Given the description of an element on the screen output the (x, y) to click on. 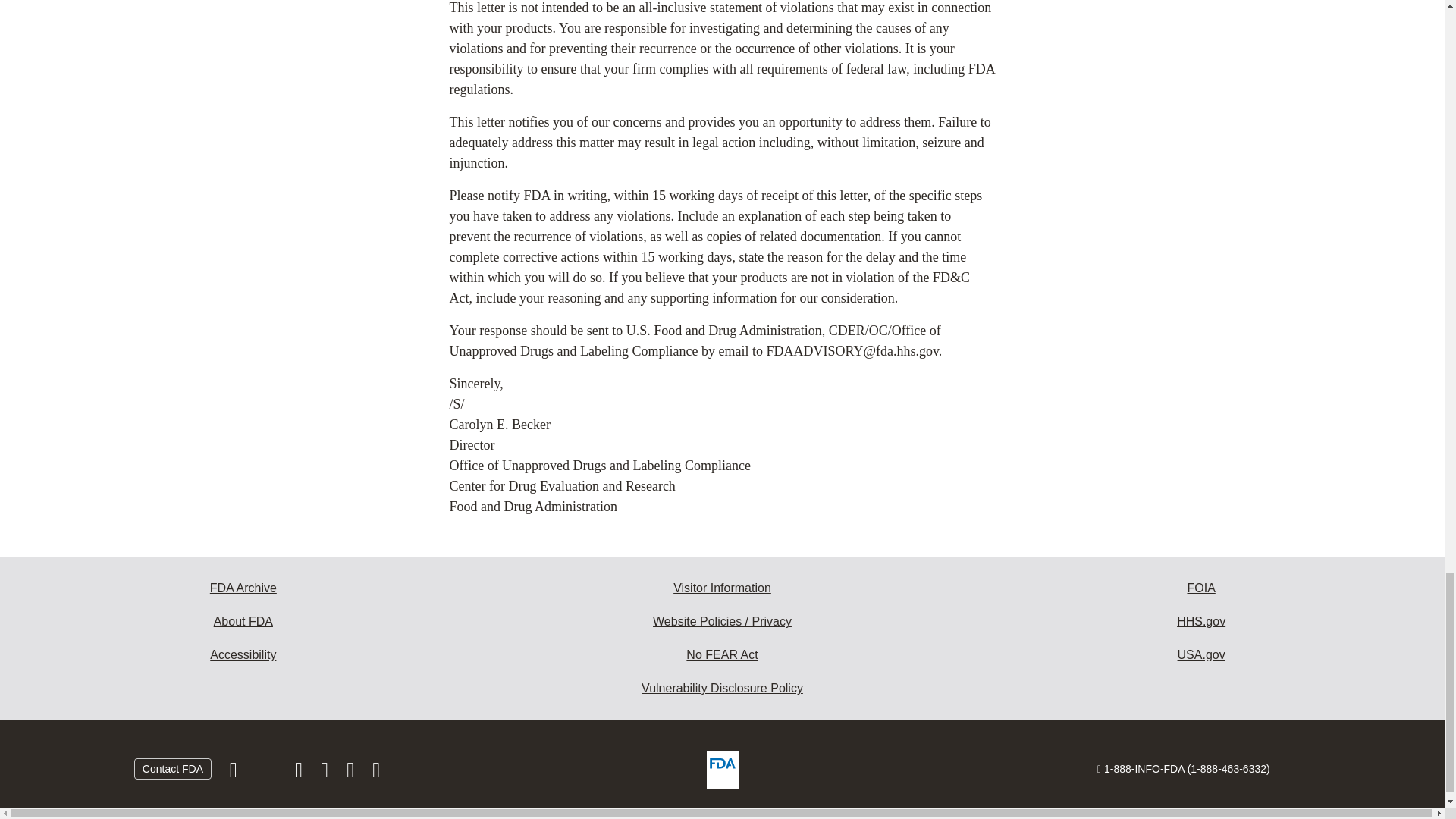
Health and Human Services (1200, 621)
Subscribe to FDA RSS feeds (376, 773)
Follow FDA on Instagram (299, 773)
Follow FDA on Facebook (234, 773)
Follow FDA on X (266, 773)
Follow FDA on LinkedIn (326, 773)
Freedom of Information Act (1200, 588)
View FDA videos on YouTube (352, 773)
